Given the description of an element on the screen output the (x, y) to click on. 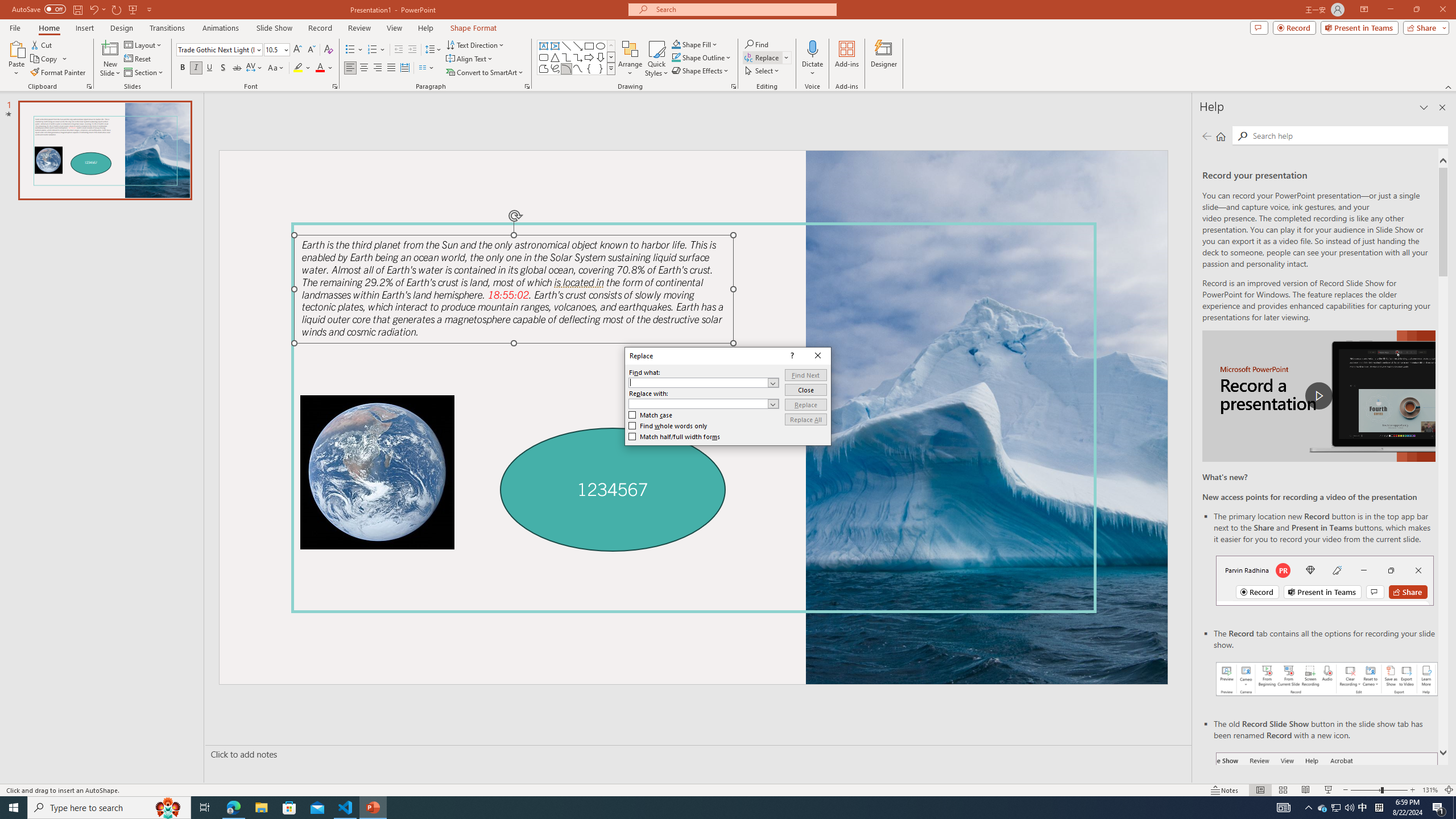
Find Next (805, 374)
